Given the description of an element on the screen output the (x, y) to click on. 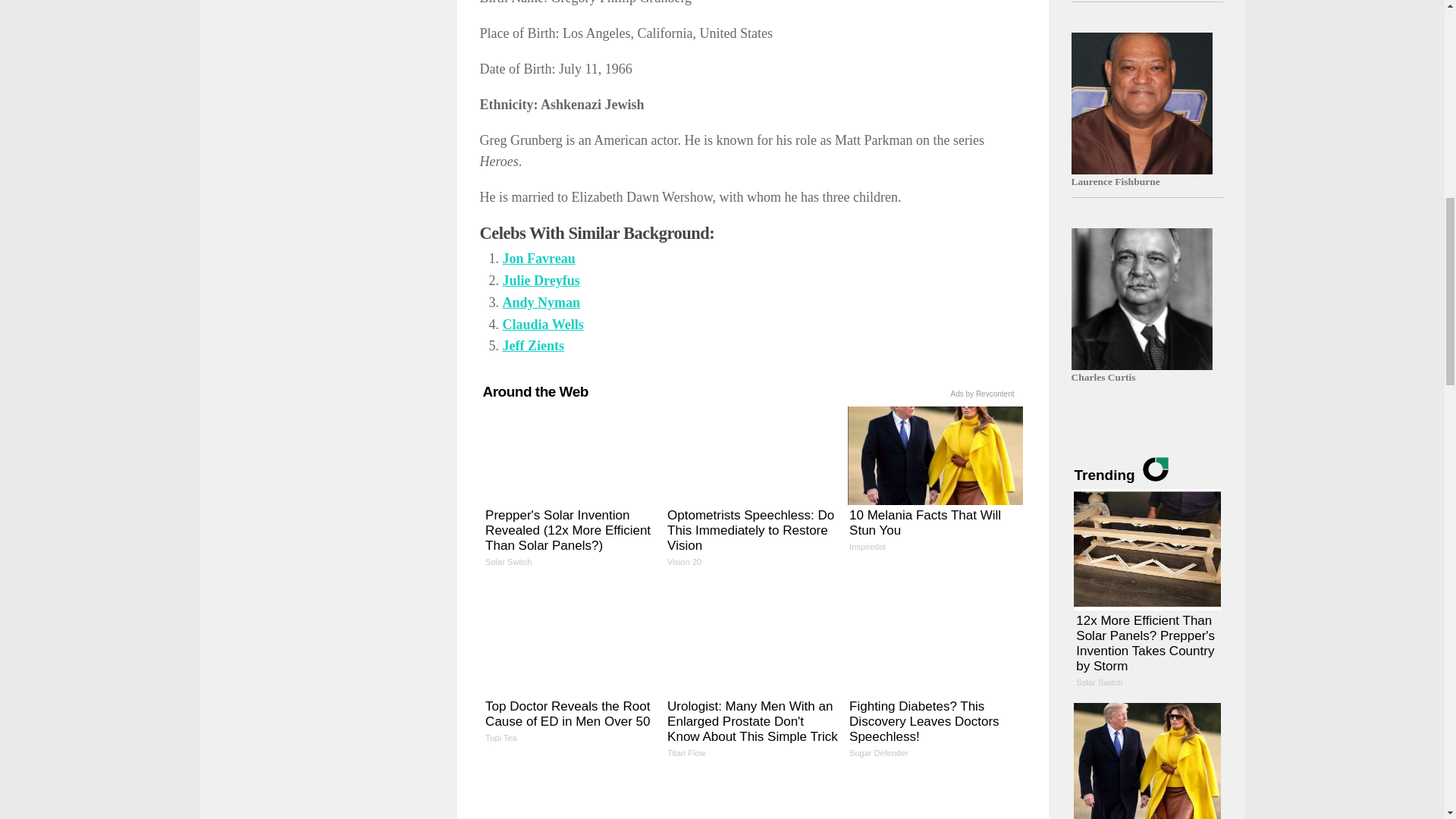
Jon Favreau (934, 484)
Jon Favreau (538, 258)
Andy Nyman (538, 258)
Jeff Zients (540, 302)
Andy Nyman (532, 345)
Jeff Zients (540, 302)
Julie Dreyfus (532, 345)
10 Melania Facts That Will Stun You (540, 280)
Claudia Wells (934, 484)
